Given the description of an element on the screen output the (x, y) to click on. 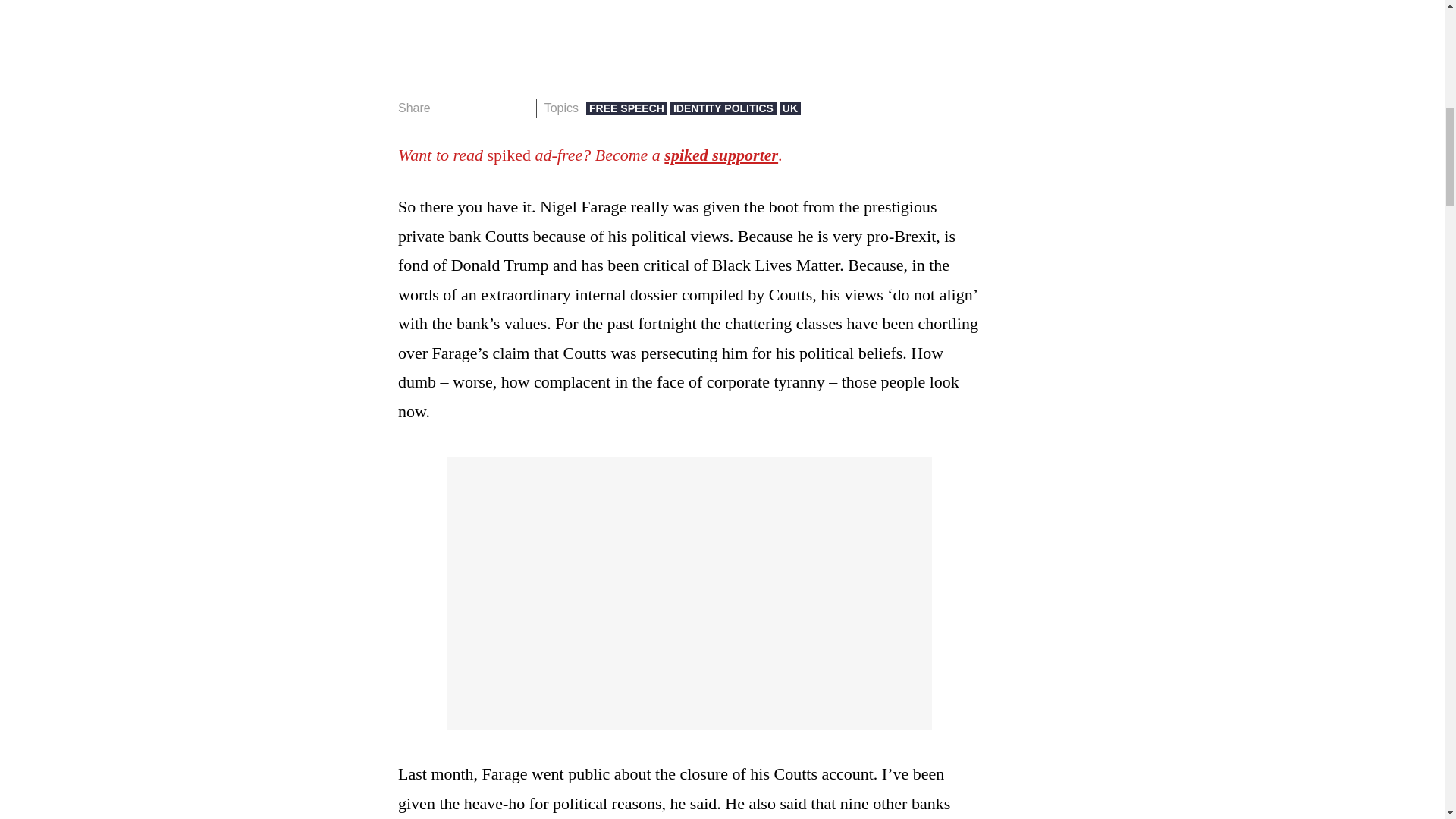
Share on Whatsapp (494, 107)
Share on Facebook (448, 107)
Share on Email (518, 107)
Share on Twitter (471, 107)
